Given the description of an element on the screen output the (x, y) to click on. 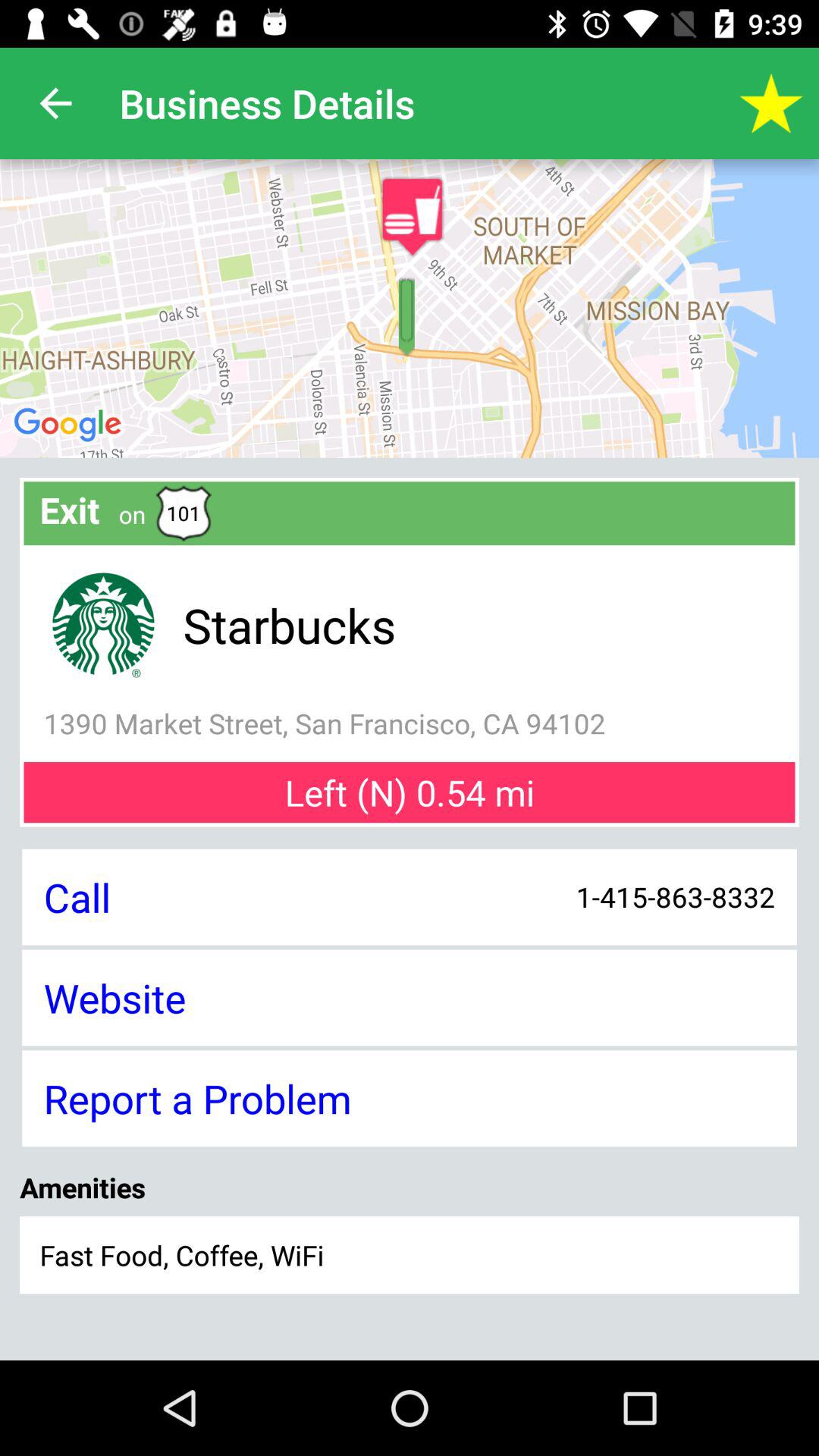
turn on the icon next to business details app (55, 103)
